Given the description of an element on the screen output the (x, y) to click on. 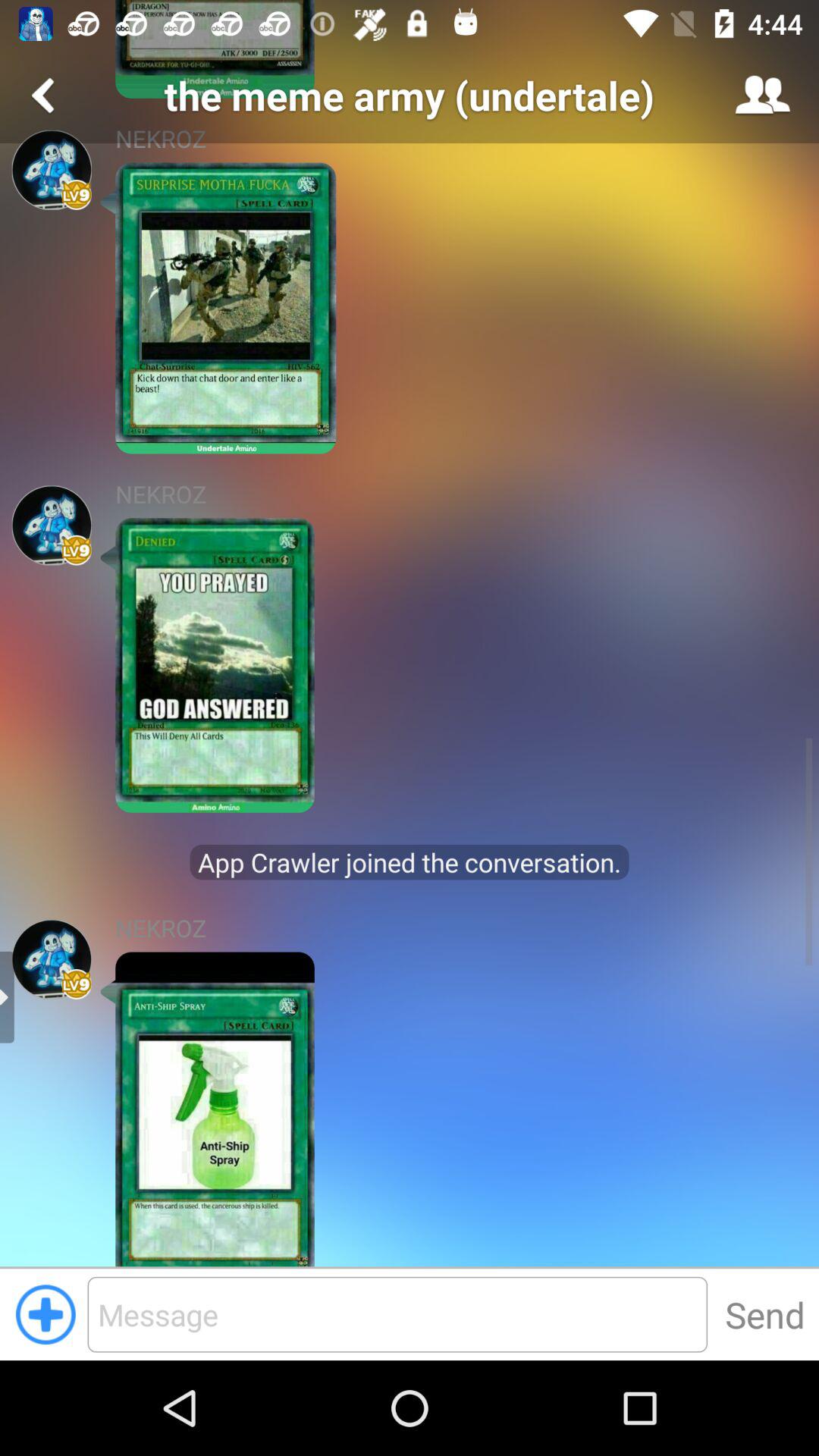
go to nekroz 's profile (51, 169)
